Given the description of an element on the screen output the (x, y) to click on. 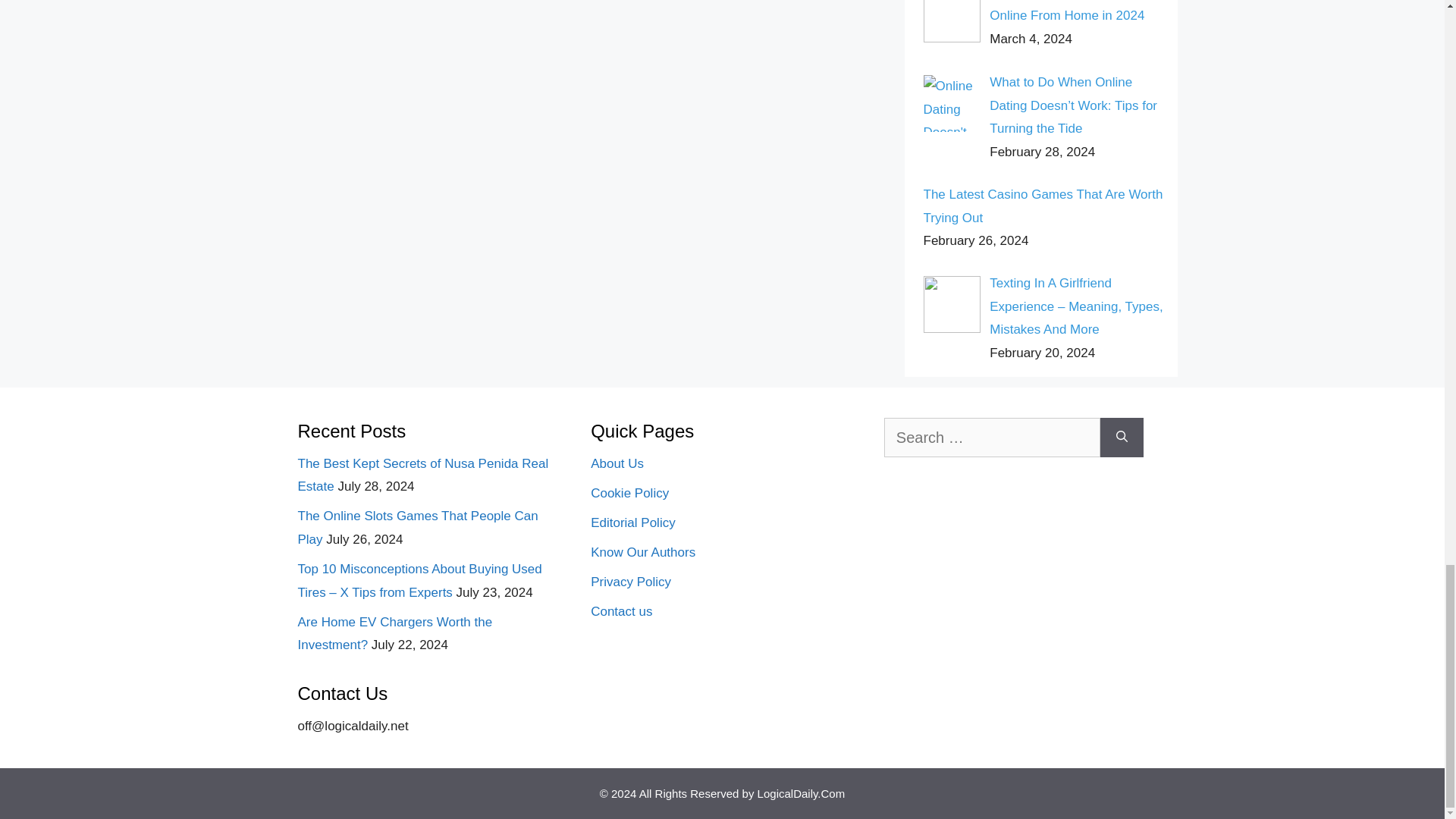
Search for: (991, 437)
10 Fun Ways to Make Money Online From Home in 2024 (1073, 11)
The Latest Casino Games That Are Worth Trying Out (1043, 206)
